Given the description of an element on the screen output the (x, y) to click on. 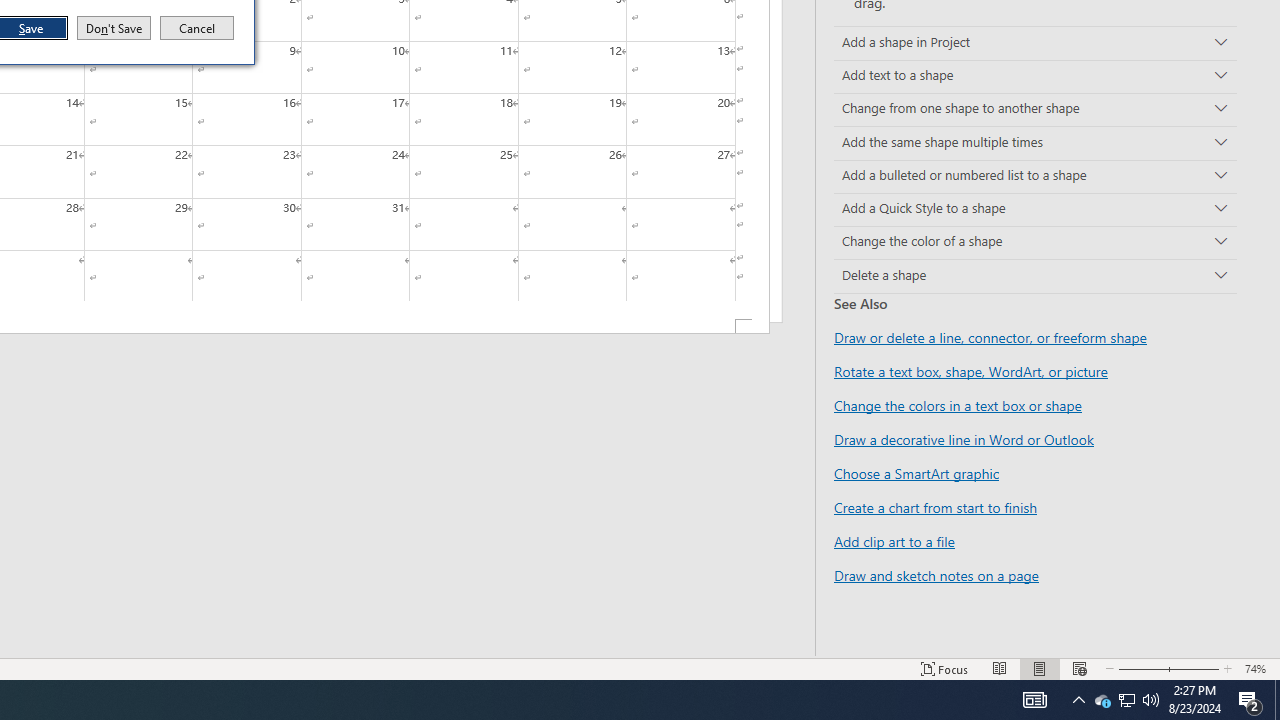
Web Layout (1079, 668)
Read Mode (1102, 699)
AutomationID: 4105 (1000, 668)
Delete a shape (1034, 699)
Don't Save (1035, 276)
Draw a decorative line in Word or Outlook (113, 27)
Add clip art to a file (964, 439)
Show desktop (894, 541)
Add text to a shape (1277, 699)
Draw or delete a line, connector, or freeform shape (1035, 76)
Add a Quick Style to a shape (1126, 699)
